Given the description of an element on the screen output the (x, y) to click on. 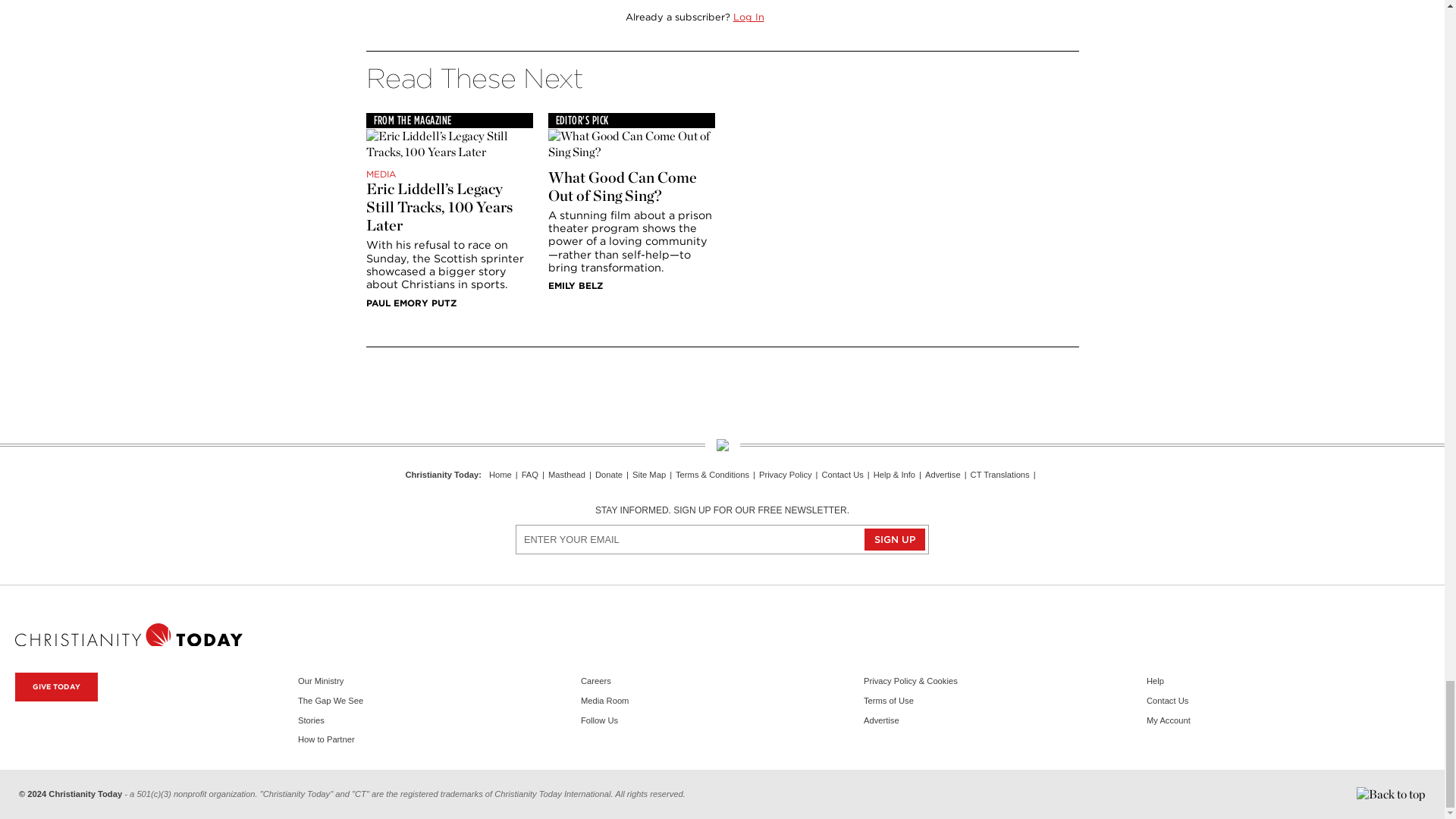
Sign Up (894, 539)
